Given the description of an element on the screen output the (x, y) to click on. 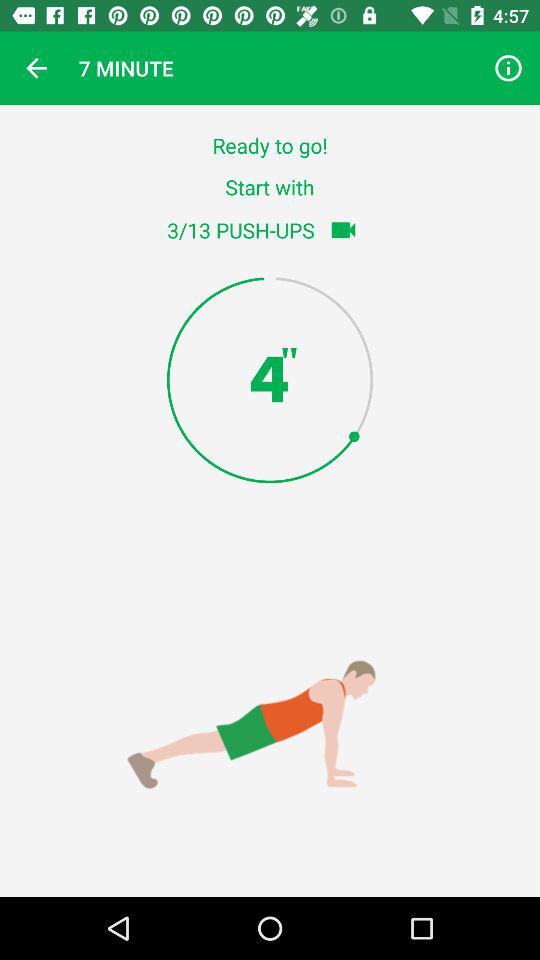
press the icon above the ready to go! (508, 67)
